Given the description of an element on the screen output the (x, y) to click on. 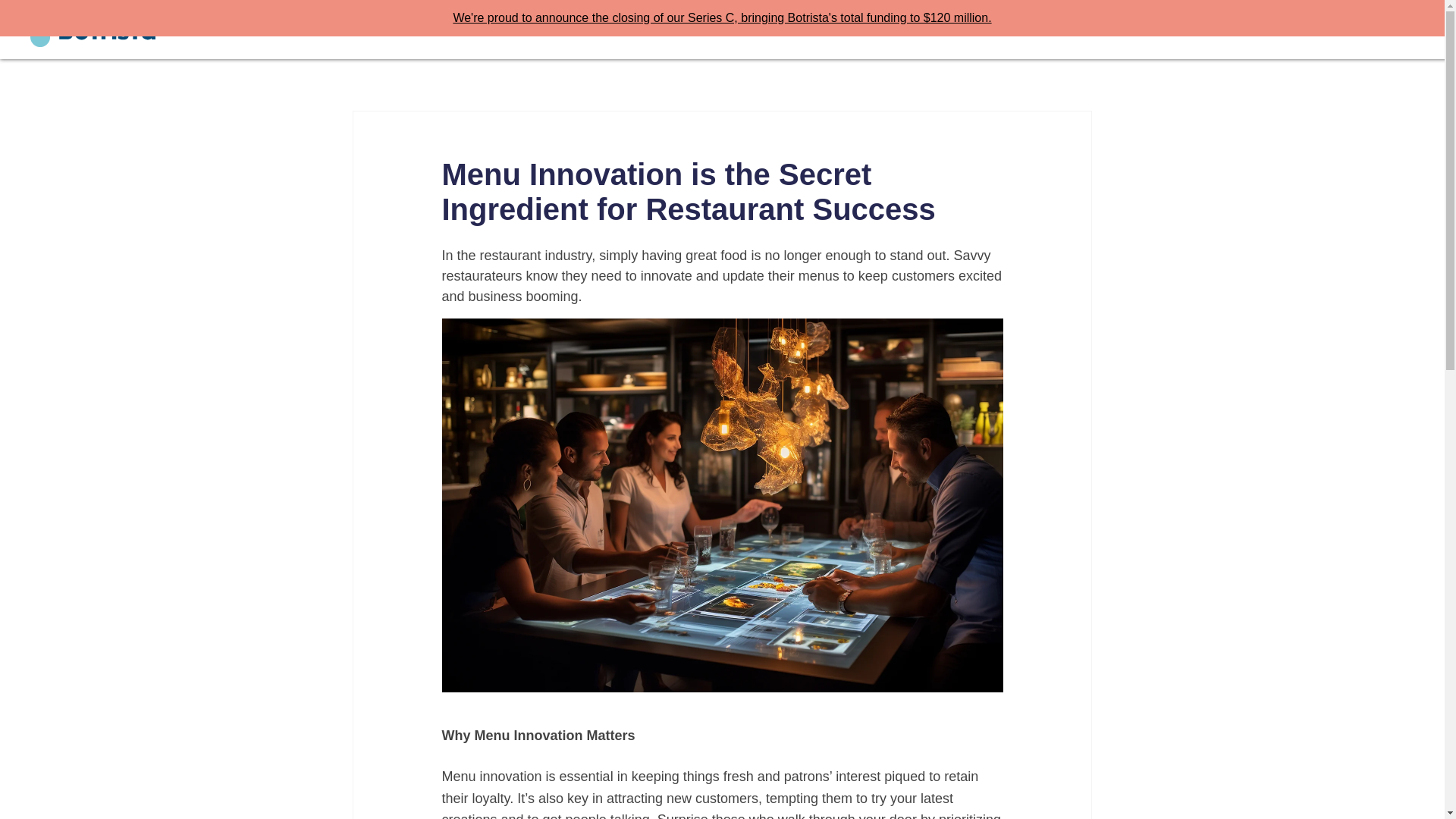
Book a Demo (1317, 29)
Boba (1084, 29)
Beverages (1017, 29)
About Us (1149, 29)
Resources (1227, 29)
logo (92, 29)
